Given the description of an element on the screen output the (x, y) to click on. 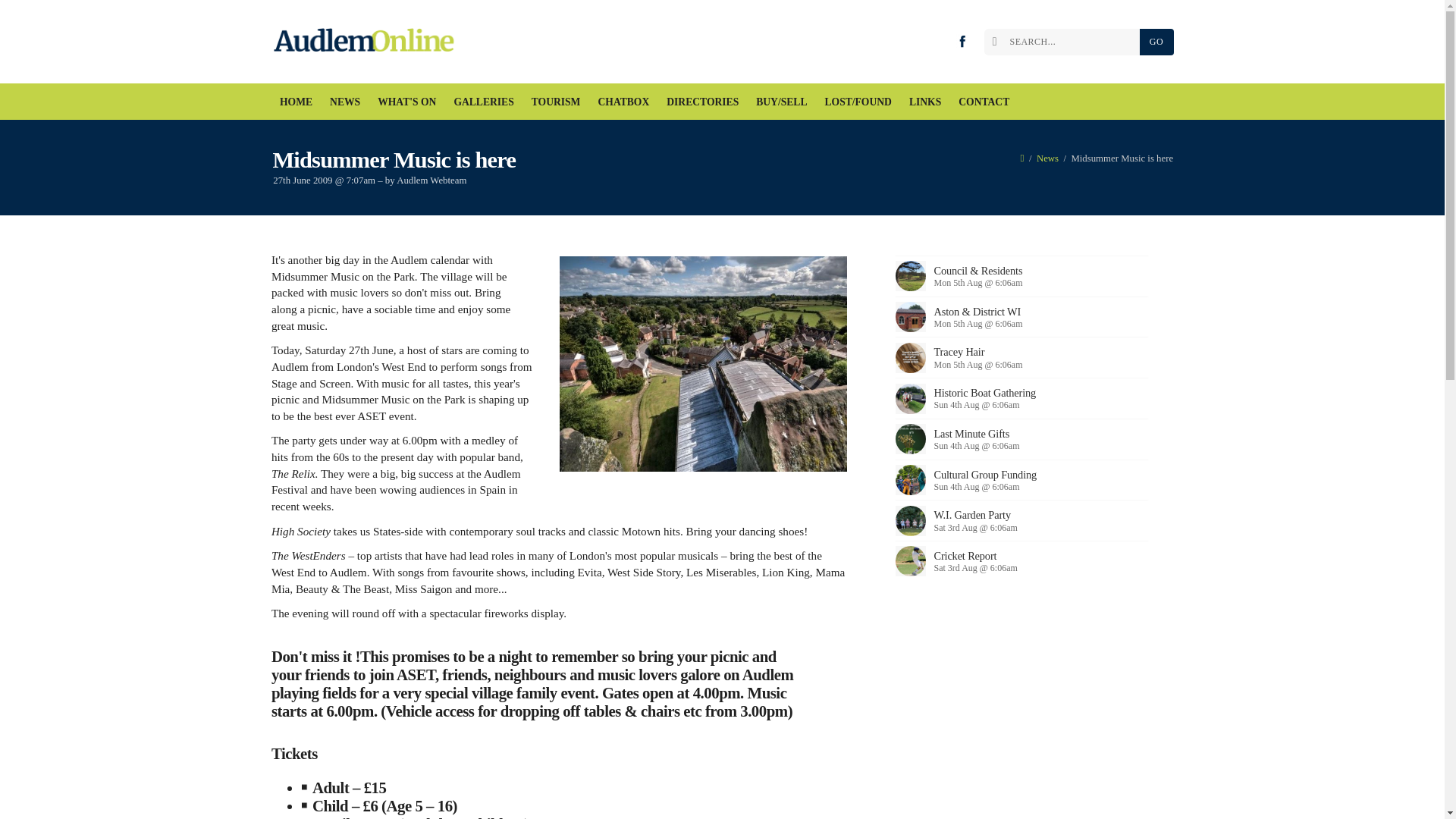
HOME (295, 101)
GALLERIES (483, 101)
CHATBOX (623, 101)
WHAT'S ON (407, 101)
LINKS (924, 101)
AudlemOnline Home (366, 41)
DIRECTORIES (703, 101)
SEARCH... (1065, 41)
News (1047, 158)
CONTACT (983, 101)
GO (1155, 41)
NEWS (345, 101)
Visit our Facebook Page (962, 40)
TOURISM (555, 101)
